Given the description of an element on the screen output the (x, y) to click on. 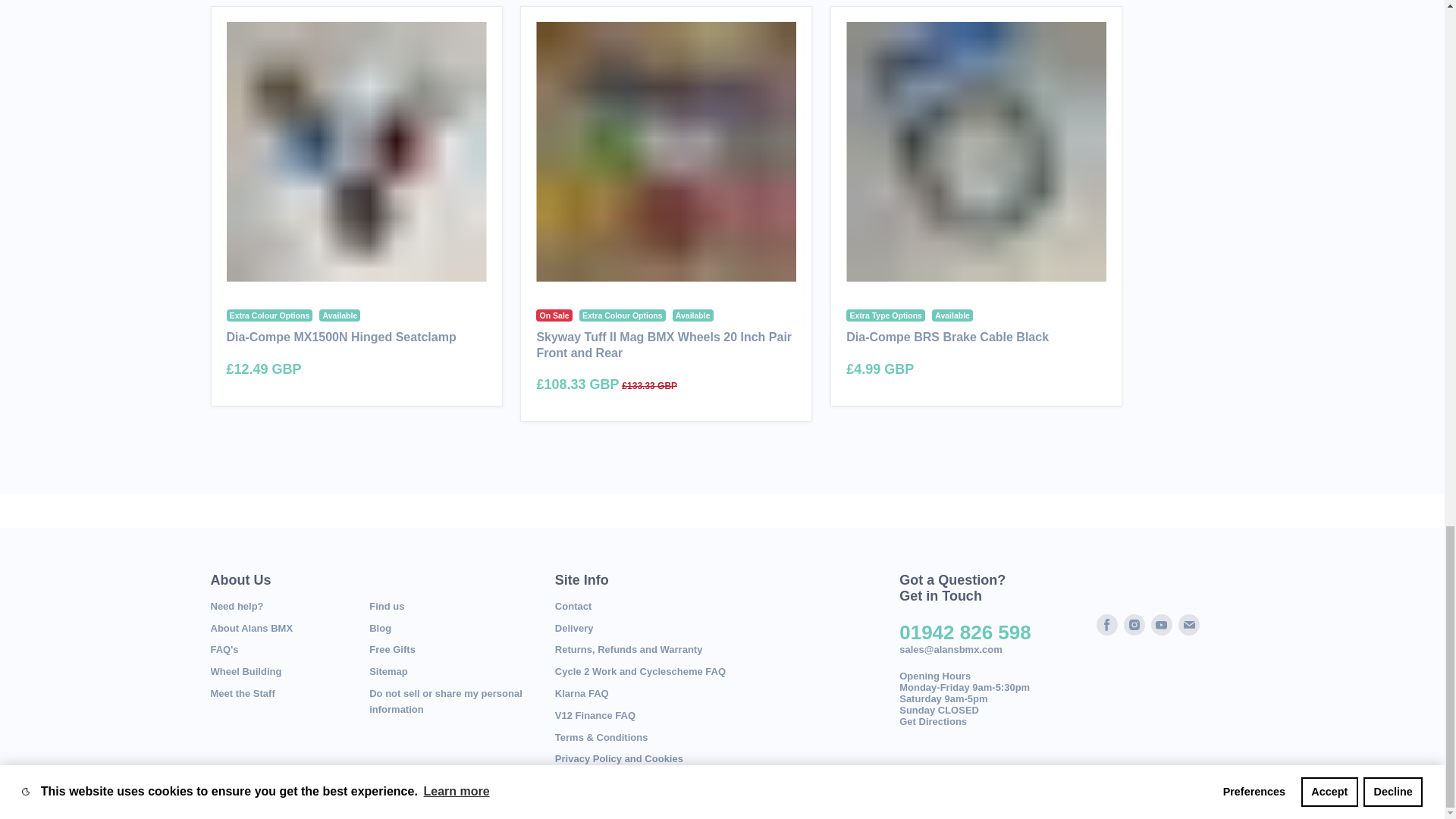
Youtube (1161, 624)
E-mail (1188, 624)
Facebook (1107, 624)
Instagram (1134, 624)
